Given the description of an element on the screen output the (x, y) to click on. 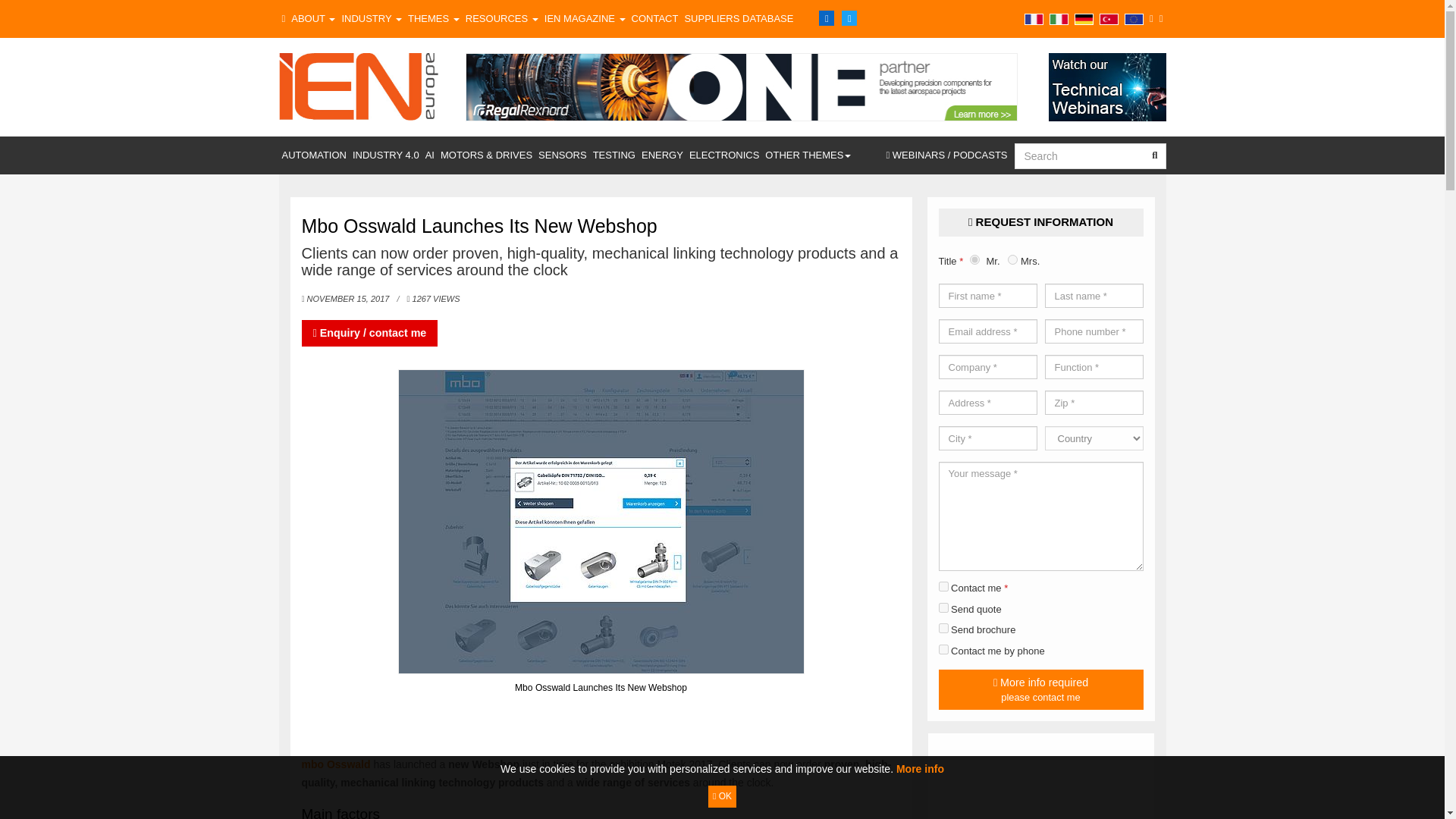
1 (944, 586)
Mr (974, 259)
enquireForm.options.001 (944, 628)
More info (919, 768)
enquireForm.options.003 (944, 649)
OK (721, 796)
enquireForm.options.002 (944, 607)
Mrs (1012, 259)
INDUSTRY (370, 18)
RESOURCES (502, 18)
Industry (370, 18)
Themes (433, 18)
ABOUT (312, 18)
IEN MAGAZINE (584, 18)
THEMES (433, 18)
